Given the description of an element on the screen output the (x, y) to click on. 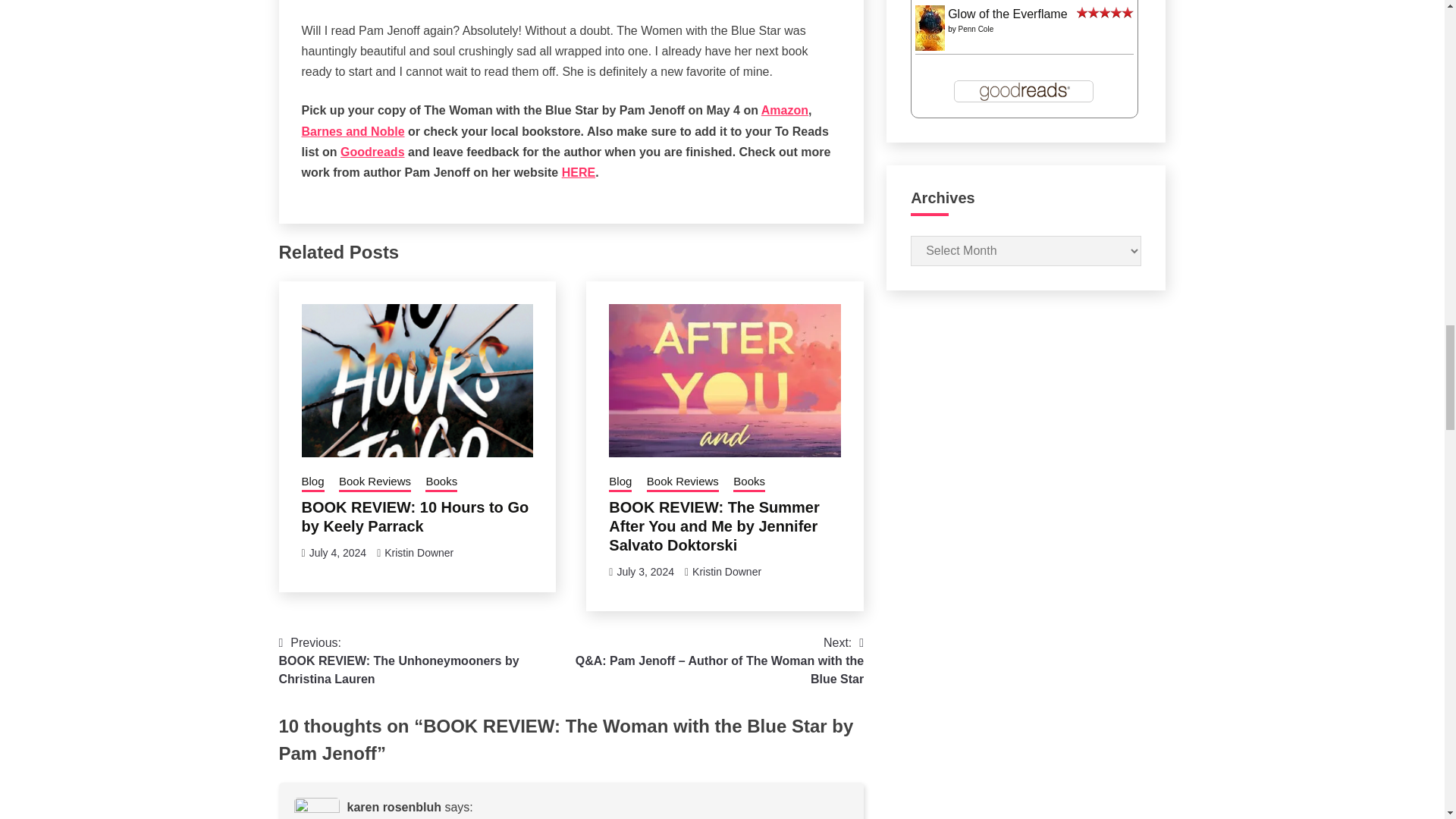
Book Reviews (374, 483)
Blog (312, 483)
Goodreads (372, 151)
HERE (578, 172)
Barnes and Noble (352, 131)
Amazon (784, 110)
